Given the description of an element on the screen output the (x, y) to click on. 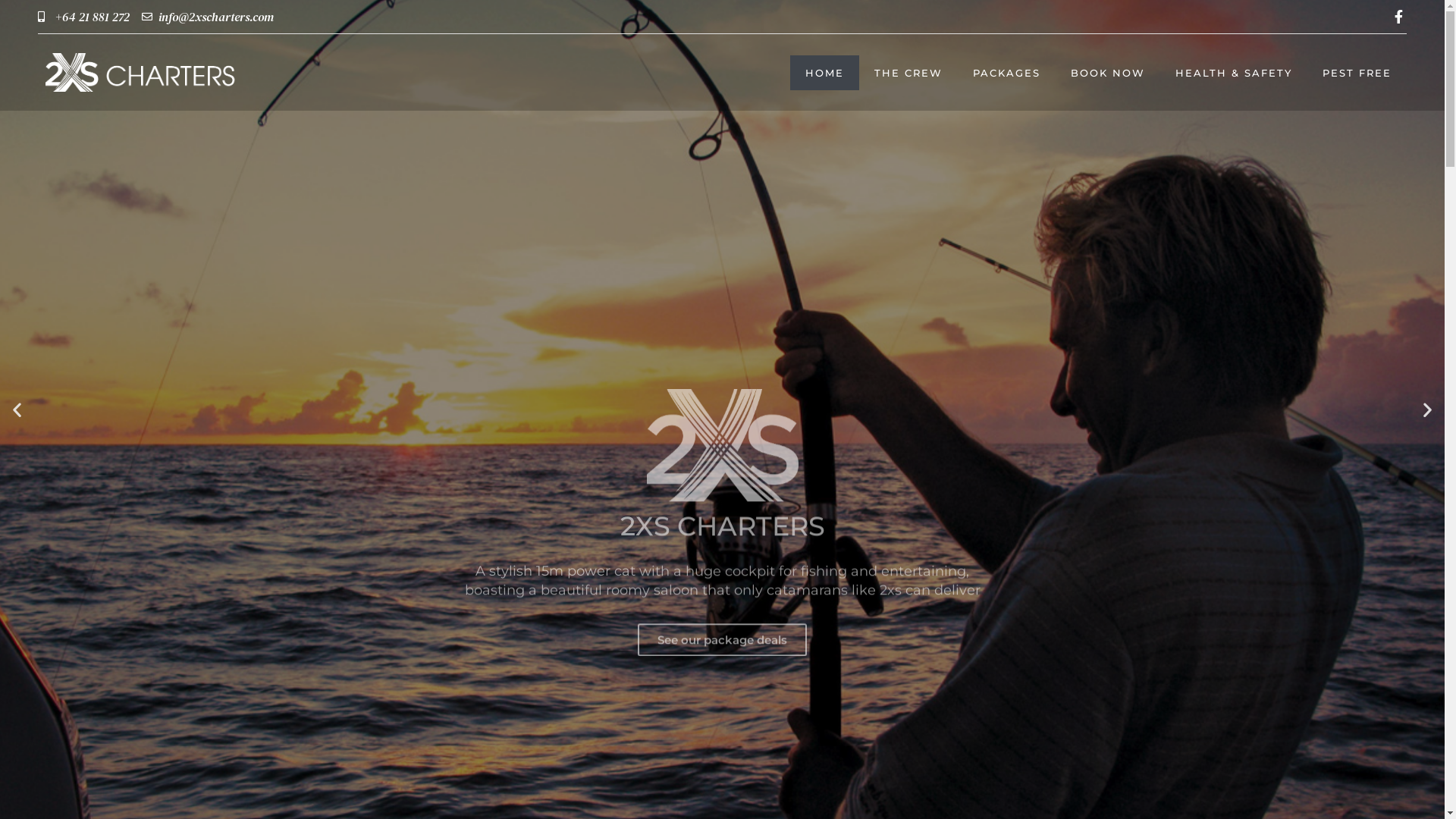
+64 21 881 272 Element type: text (83, 16)
PEST FREE Element type: text (1356, 72)
HEALTH & SAFETY Element type: text (1233, 72)
BOOK NOW Element type: text (1107, 72)
HOME Element type: text (824, 72)
THE CREW Element type: text (908, 72)
PACKAGES Element type: text (1006, 72)
info@2xscharters.com Element type: text (207, 16)
